Given the description of an element on the screen output the (x, y) to click on. 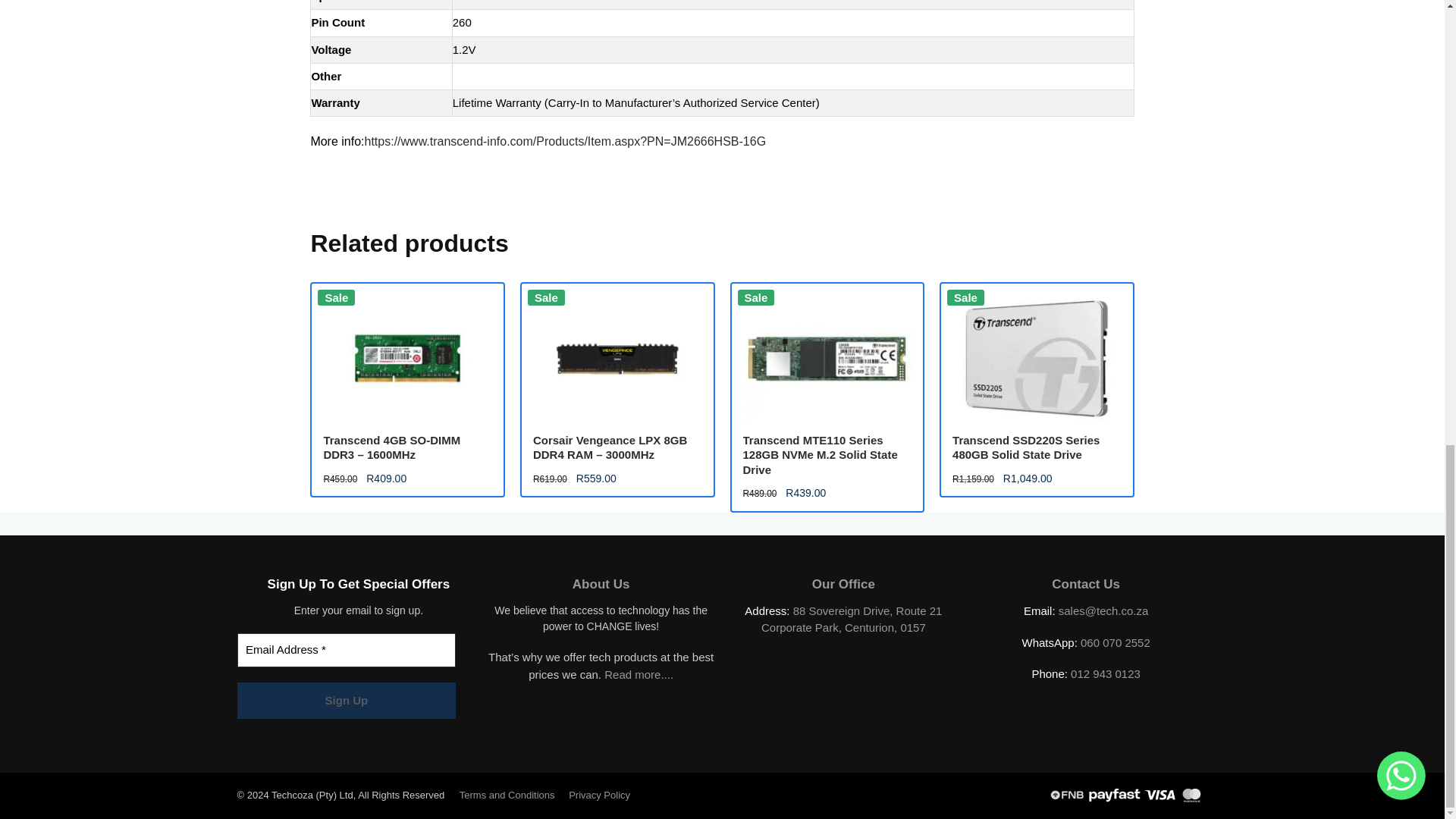
Transcend MTE110 Series 128GB NVMe M.2 Solid State Drive (827, 357)
Email Address (346, 650)
Sign Up (346, 700)
Transcend SSD220S Series 480GB Solid State Drive (1036, 357)
